Given the description of an element on the screen output the (x, y) to click on. 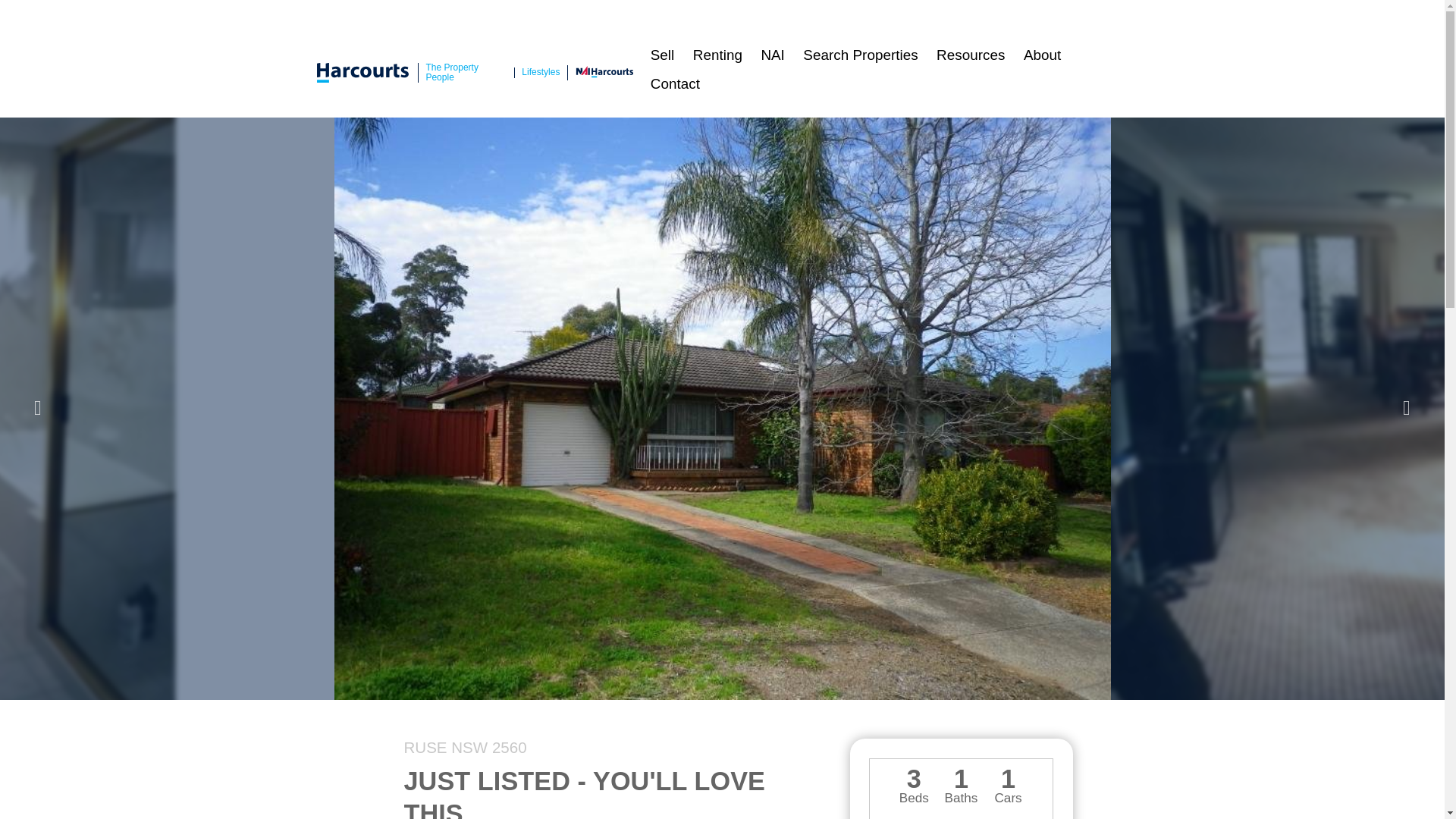
Search Properties (860, 54)
Sell (663, 54)
Contact (676, 83)
NAI (772, 54)
About (1042, 54)
Resources (970, 54)
Renting (718, 54)
Previous (37, 408)
